Given the description of an element on the screen output the (x, y) to click on. 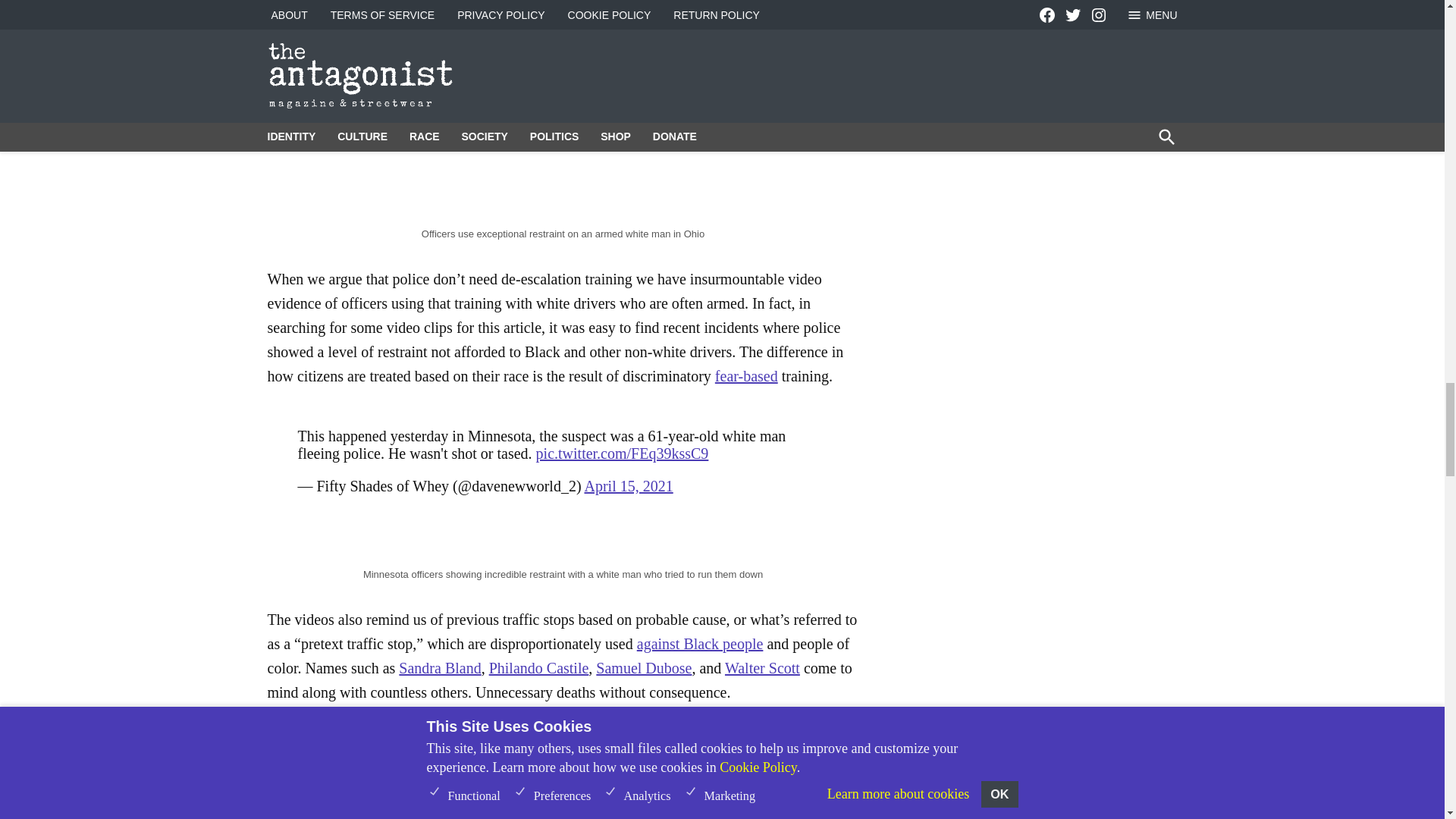
against Black people (699, 643)
Ohio police department share video of tense traffic stop (562, 110)
April 15, 2021 (627, 485)
fear-based (745, 375)
Sandra Bland (439, 668)
